Given the description of an element on the screen output the (x, y) to click on. 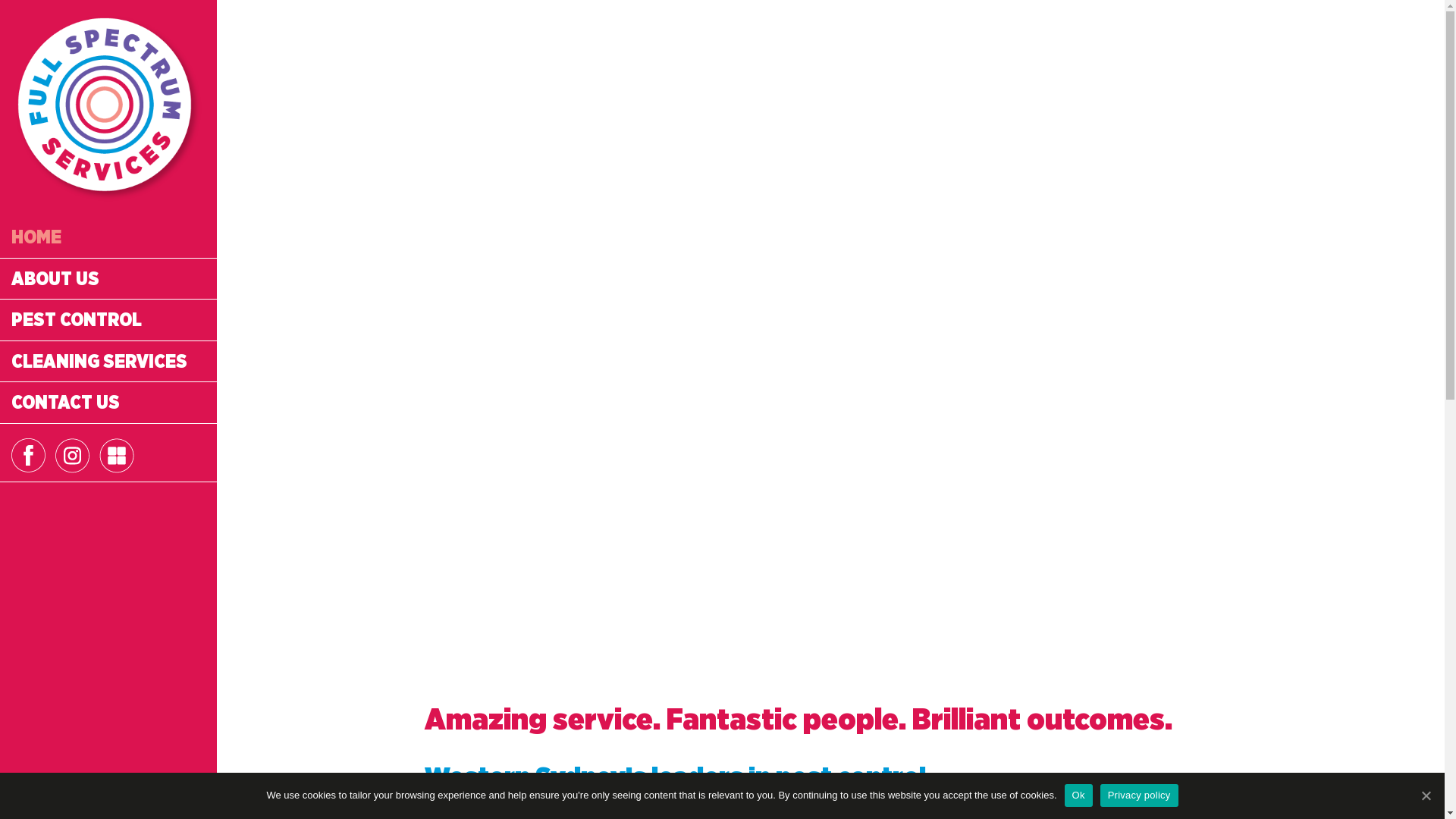
CONTACT US Element type: text (108, 402)
Ok Element type: text (1078, 795)
CLEANING SERVICES Element type: text (108, 361)
HOME Element type: text (108, 236)
Privacy policy Element type: text (1139, 795)
PEST CONTROL Element type: text (108, 319)
ABOUT US Element type: text (108, 278)
